Given the description of an element on the screen output the (x, y) to click on. 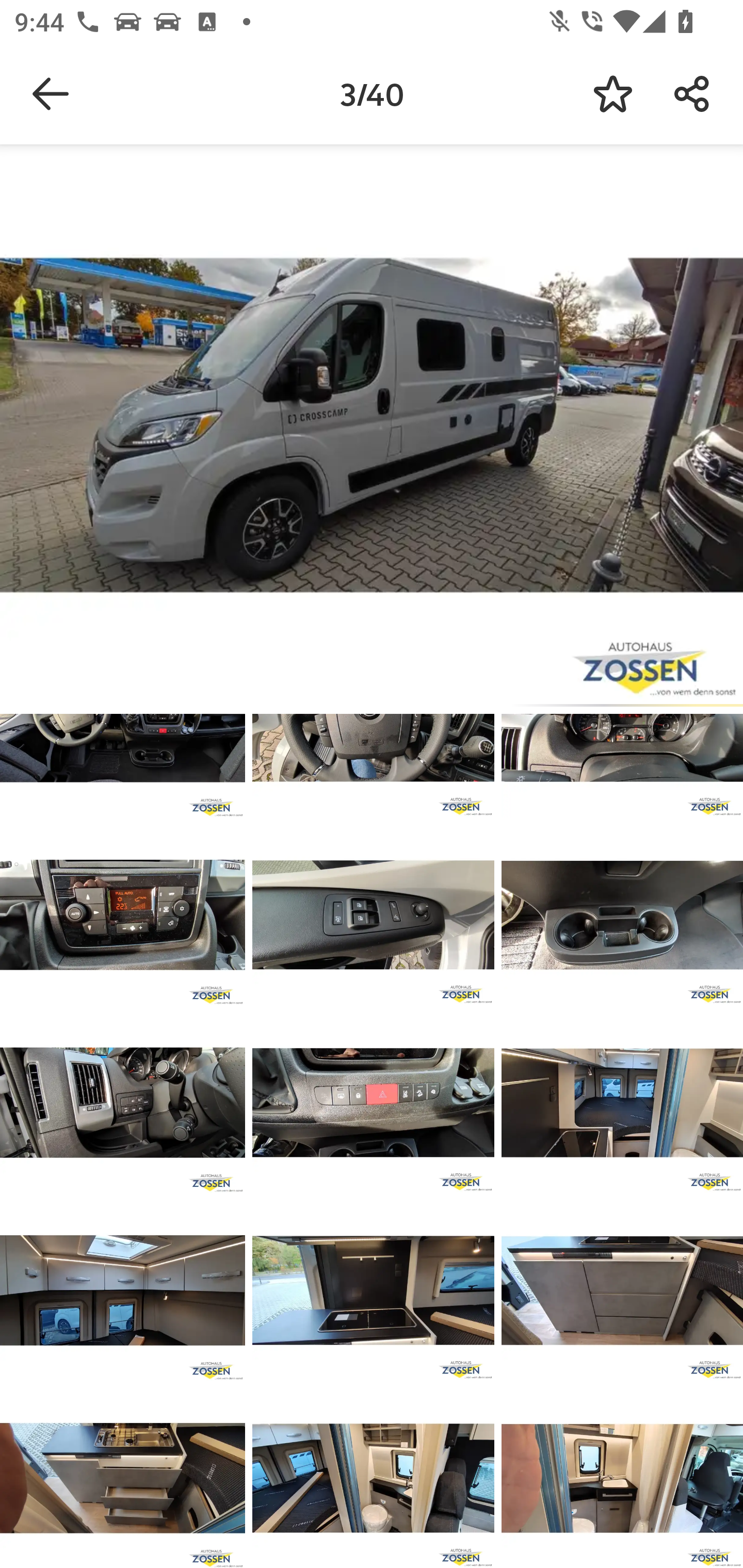
back button (50, 93)
share button (692, 93)
main image view (371, 428)
image (122, 914)
image (373, 914)
image (622, 914)
image (122, 1102)
image (373, 1102)
image (622, 1102)
image (122, 1290)
image (373, 1290)
image (622, 1290)
image (122, 1477)
image (373, 1477)
image (622, 1477)
